Given the description of an element on the screen output the (x, y) to click on. 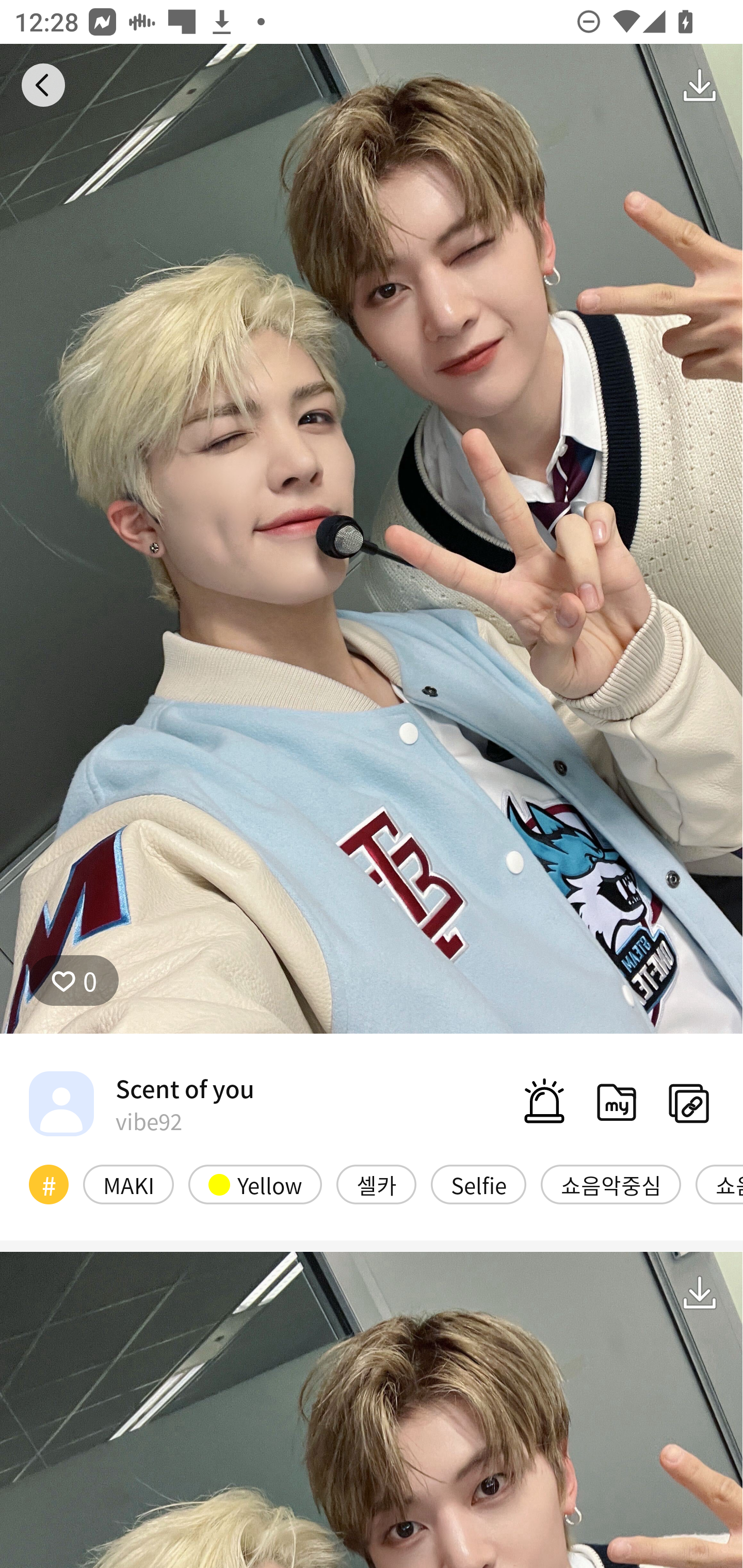
0 (73, 980)
Scent of you vibe92 (141, 1102)
MAKI (128, 1184)
Yellow (254, 1184)
셀카 (376, 1184)
Selfie (478, 1184)
쇼음악중심 (610, 1184)
